Given the description of an element on the screen output the (x, y) to click on. 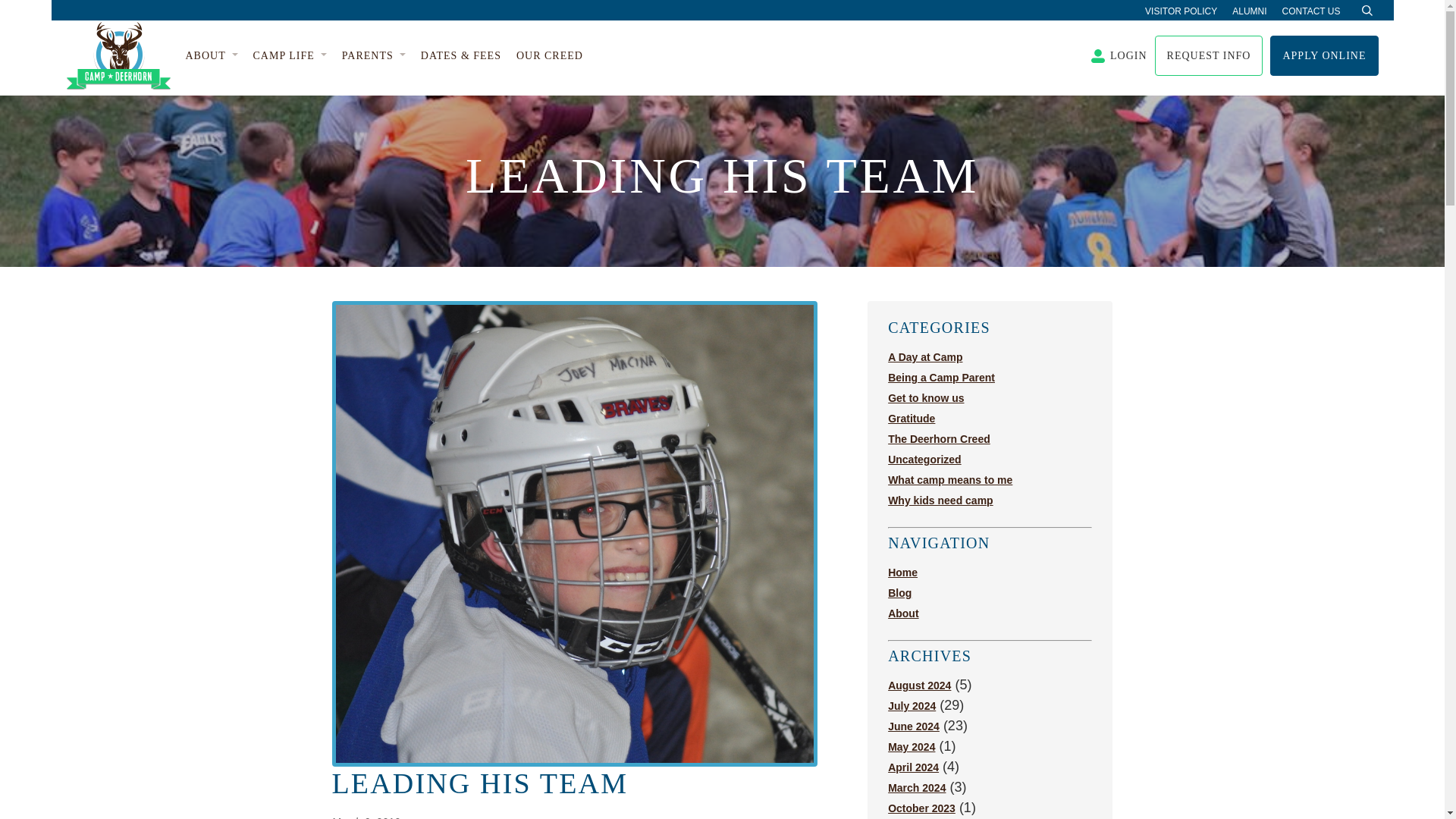
VISITOR POLICY (1180, 10)
APPLY ONLINE (1323, 56)
CAMP LIFE (289, 56)
LOGIN (1118, 55)
PARENTS (374, 56)
REQUEST INFO (1208, 56)
Deerhorn (118, 55)
ABOUT (210, 56)
OUR CREED (549, 56)
ALUMNI (1248, 10)
